Given the description of an element on the screen output the (x, y) to click on. 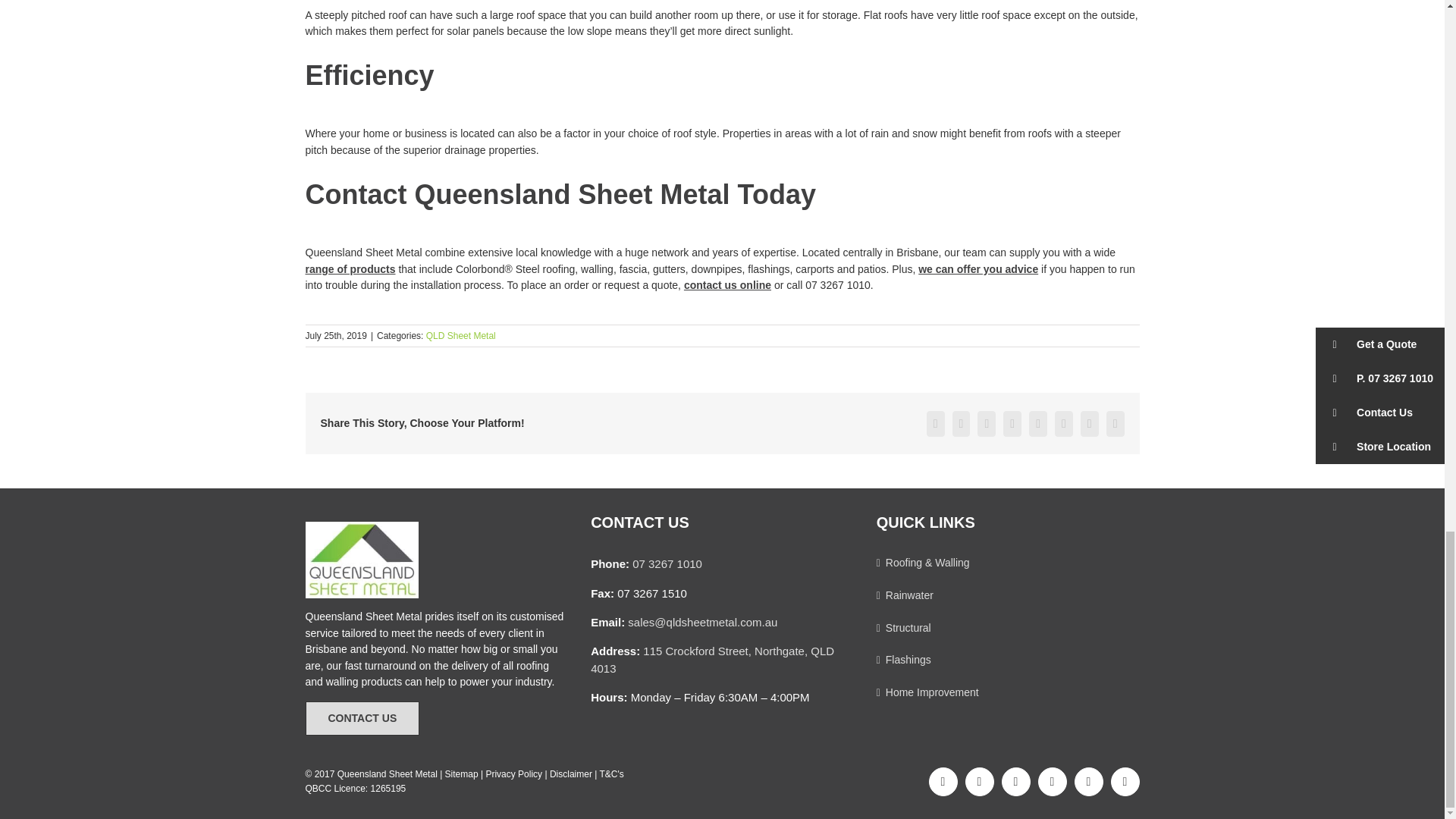
Email (1115, 423)
Facebook (942, 781)
LinkedIn (1012, 423)
Reddit (985, 423)
QLD Sheet Metal Logo (360, 559)
Facebook (935, 423)
X (961, 423)
Pinterest (1063, 423)
Vk (1089, 423)
Tumblr (1037, 423)
Pinterest (1050, 781)
X (1015, 781)
Instagram (977, 781)
YouTube (1123, 781)
LinkedIn (1088, 781)
